Given the description of an element on the screen output the (x, y) to click on. 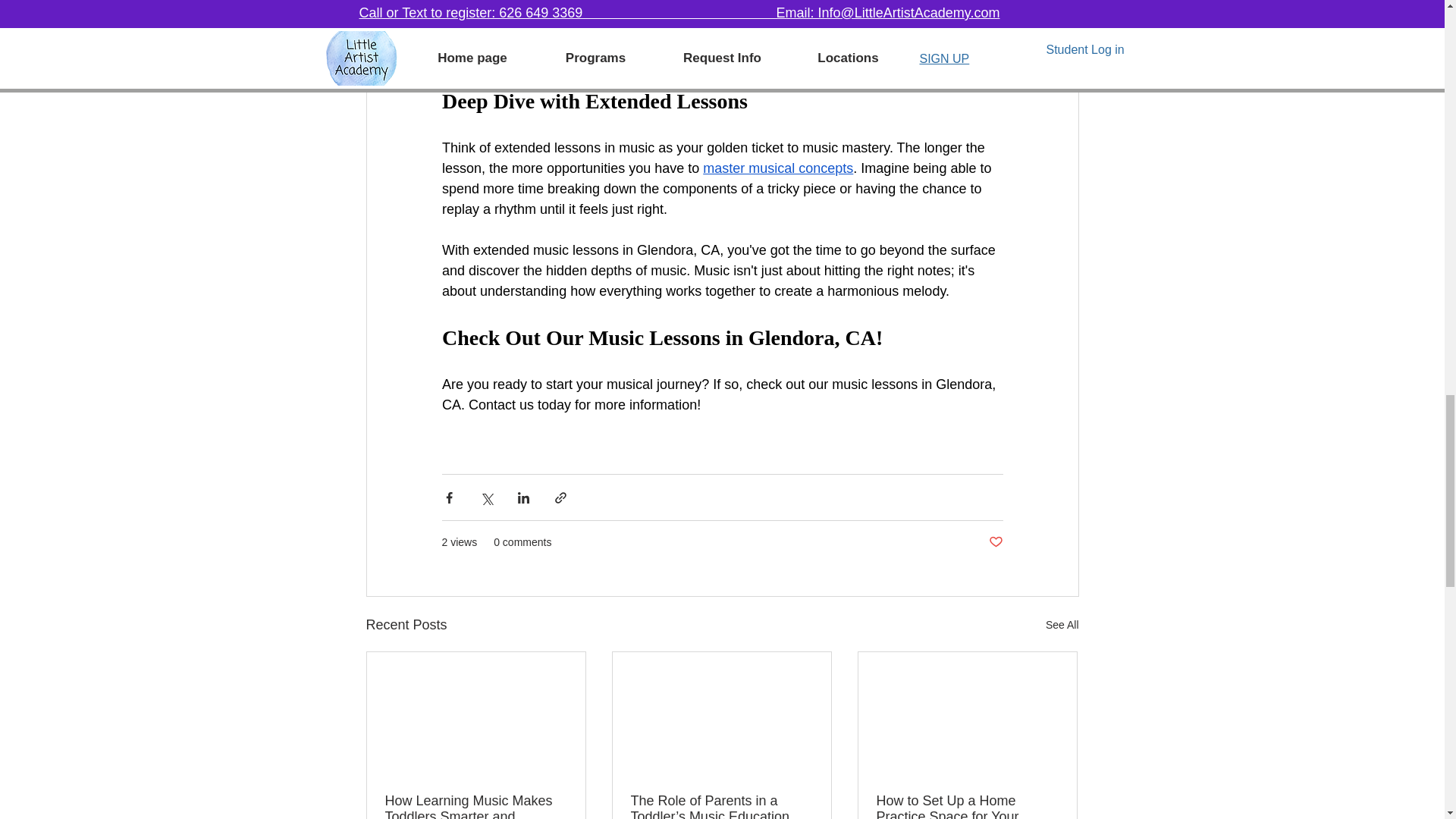
How to Set Up a Home Practice Space for Your Toddler (967, 806)
Post not marked as liked (995, 542)
See All (1061, 625)
How Learning Music Makes Toddlers Smarter and Happier (476, 806)
master musical concepts (778, 168)
